Given the description of an element on the screen output the (x, y) to click on. 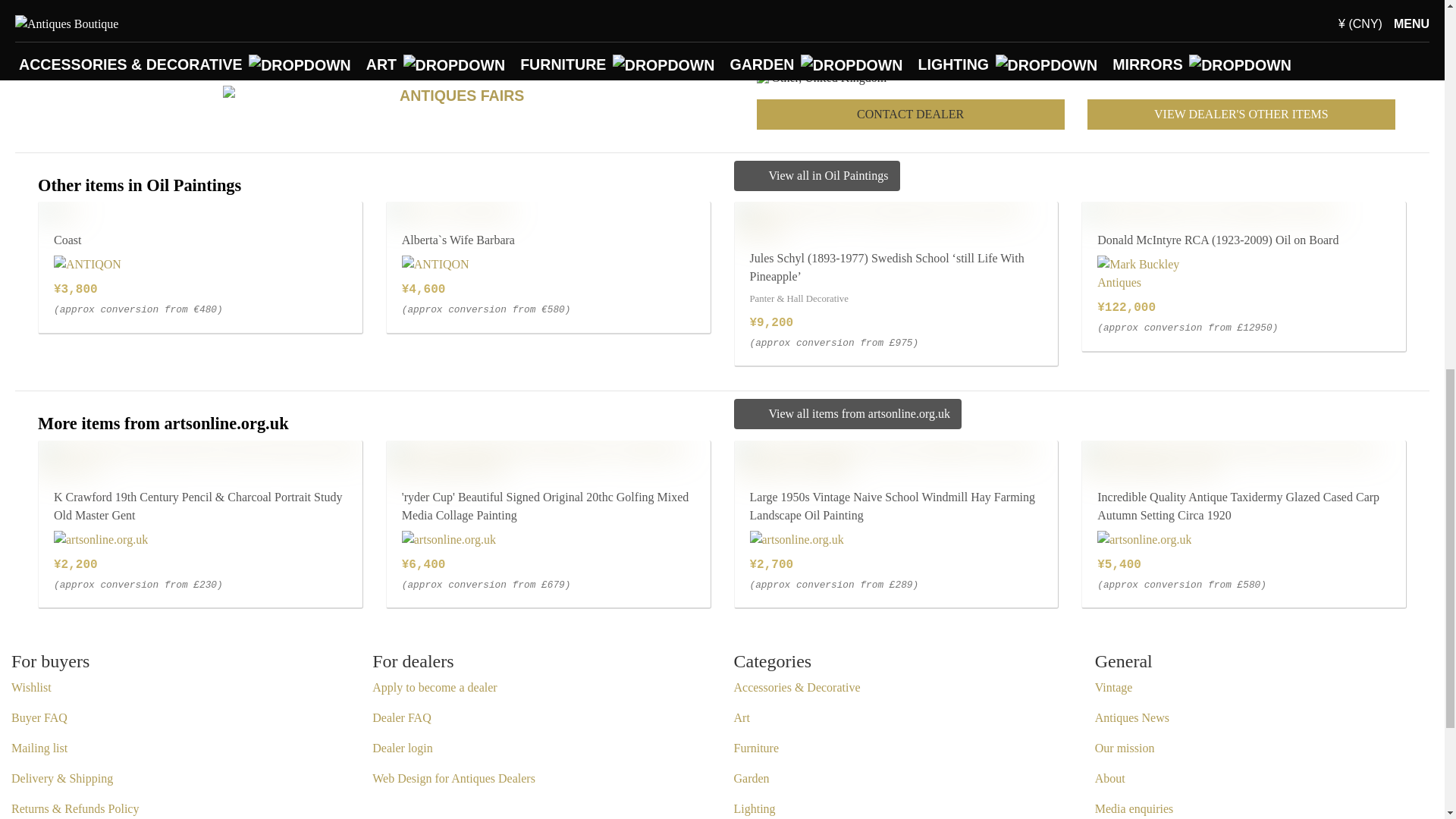
Coast (58, 210)
